Given the description of an element on the screen output the (x, y) to click on. 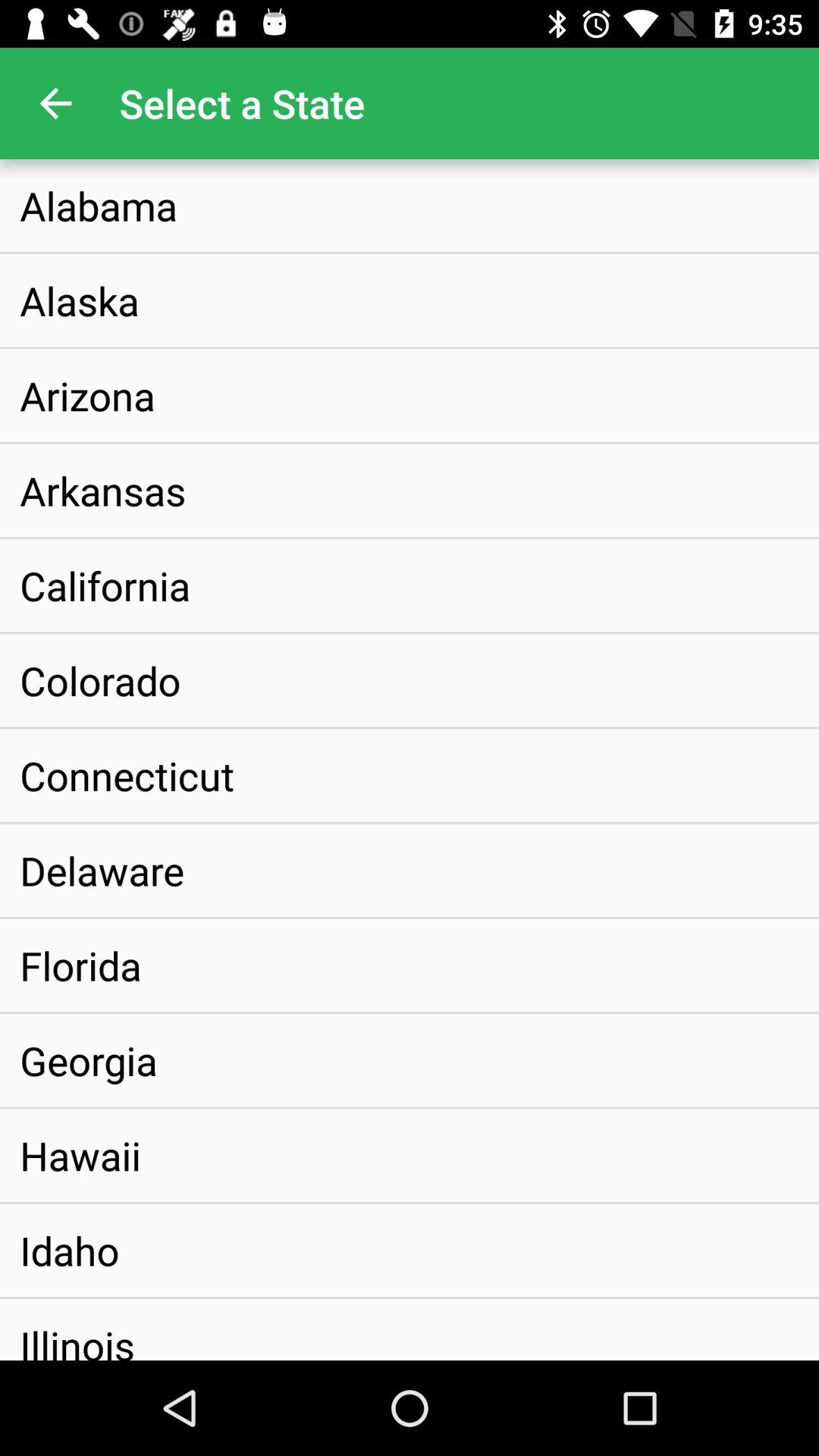
select the icon above california icon (102, 490)
